Given the description of an element on the screen output the (x, y) to click on. 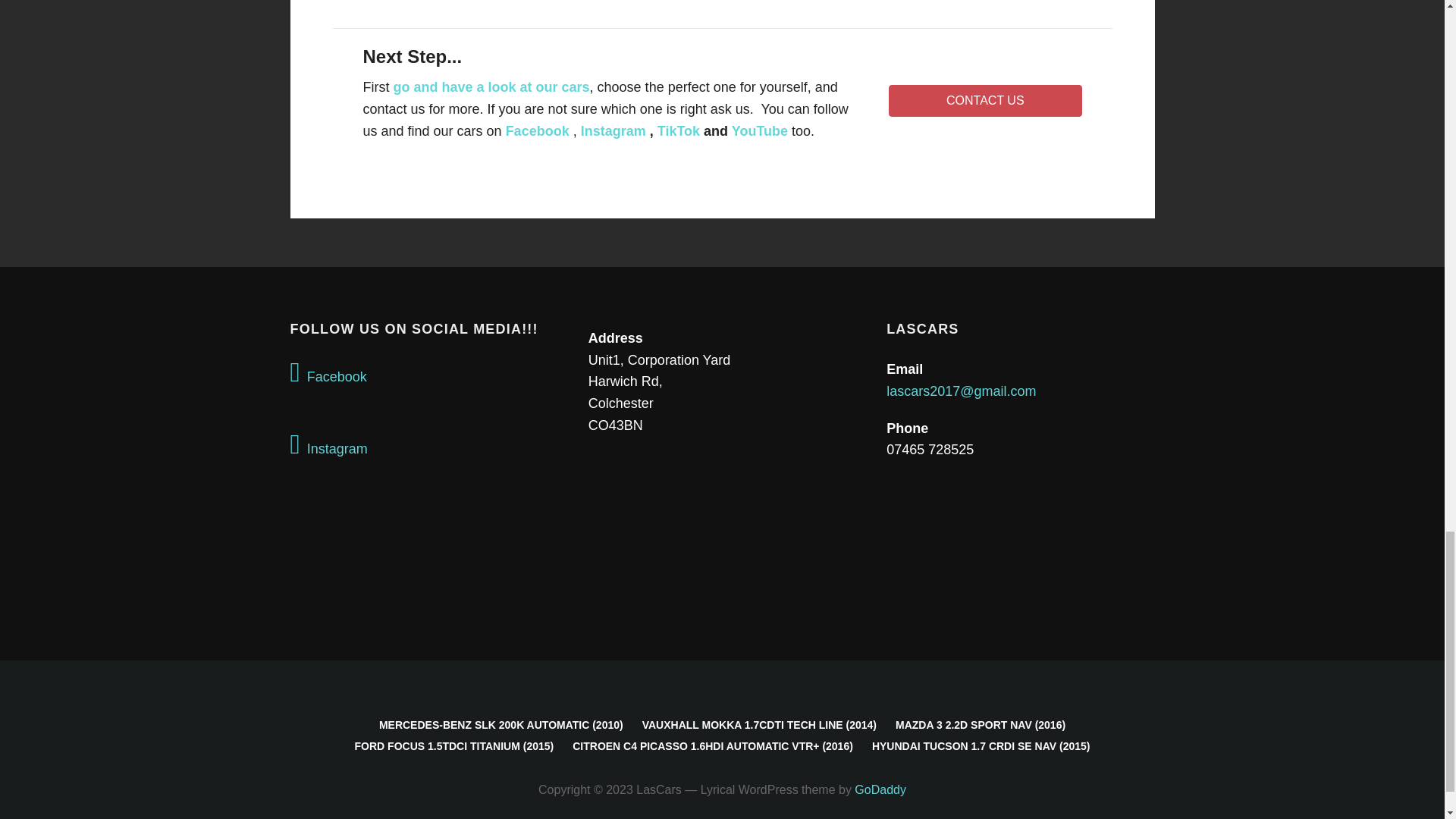
Visit Used Cars For Sale Colchester on Instagram (423, 445)
go and have a look at our cars (491, 87)
Instagram (423, 445)
YouTube (759, 130)
TikTok (679, 130)
Visit Used Cars For Sale Colchester on Facebook (423, 373)
Instagram (613, 130)
Facebook (423, 373)
GoDaddy (879, 789)
CONTACT US (984, 101)
